Given the description of an element on the screen output the (x, y) to click on. 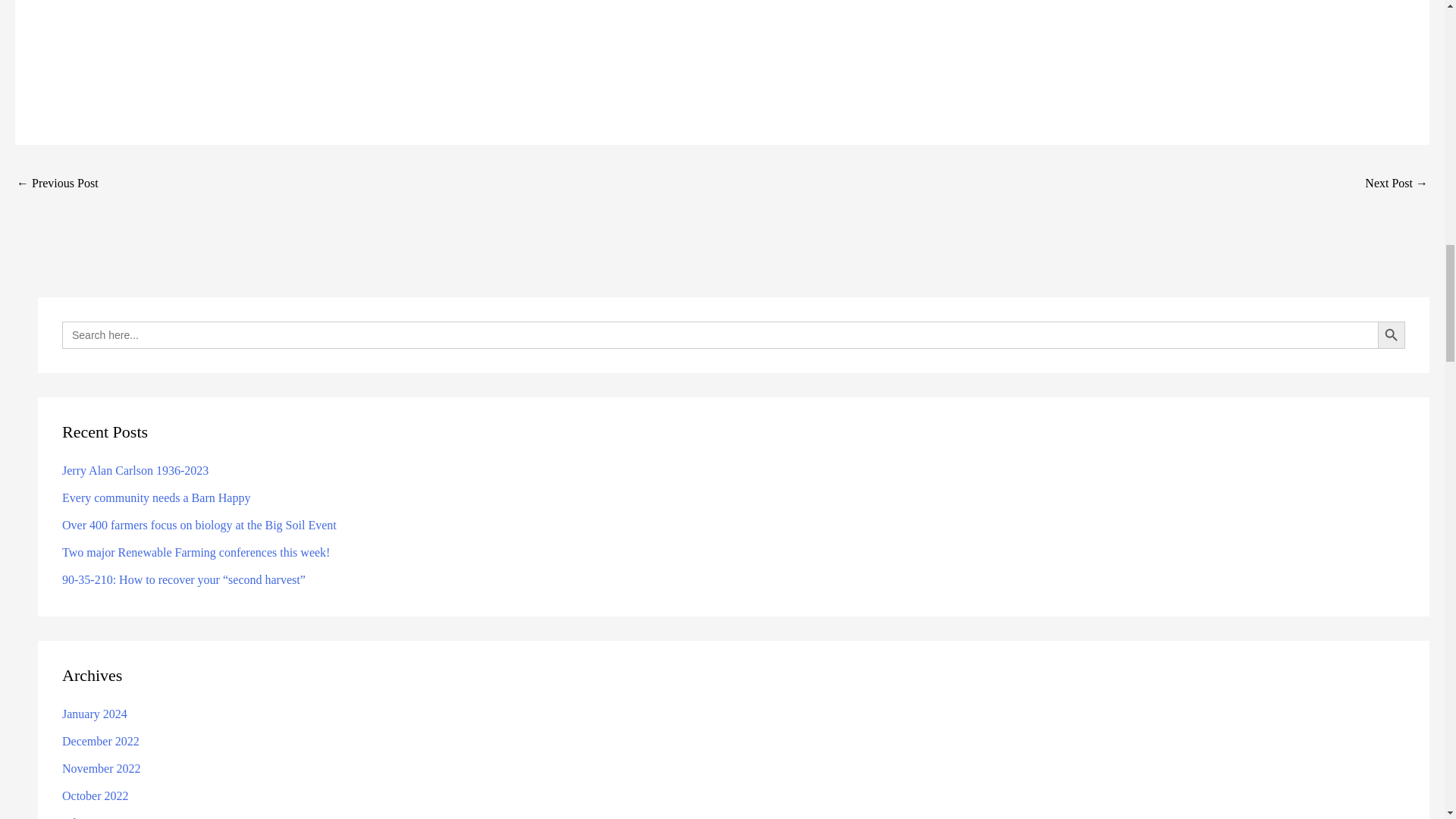
October 2022 (95, 795)
Jerry Alan Carlson 1936-2023 (135, 470)
Two major Renewable Farming conferences this week! (196, 552)
January 2024 (95, 713)
July 2022 (86, 817)
December 2022 (100, 740)
Over 400 farmers focus on biology at the Big Soil Event (199, 524)
Search Button (1391, 334)
November 2022 (101, 768)
Every community needs a Barn Happy (156, 497)
